Given the description of an element on the screen output the (x, y) to click on. 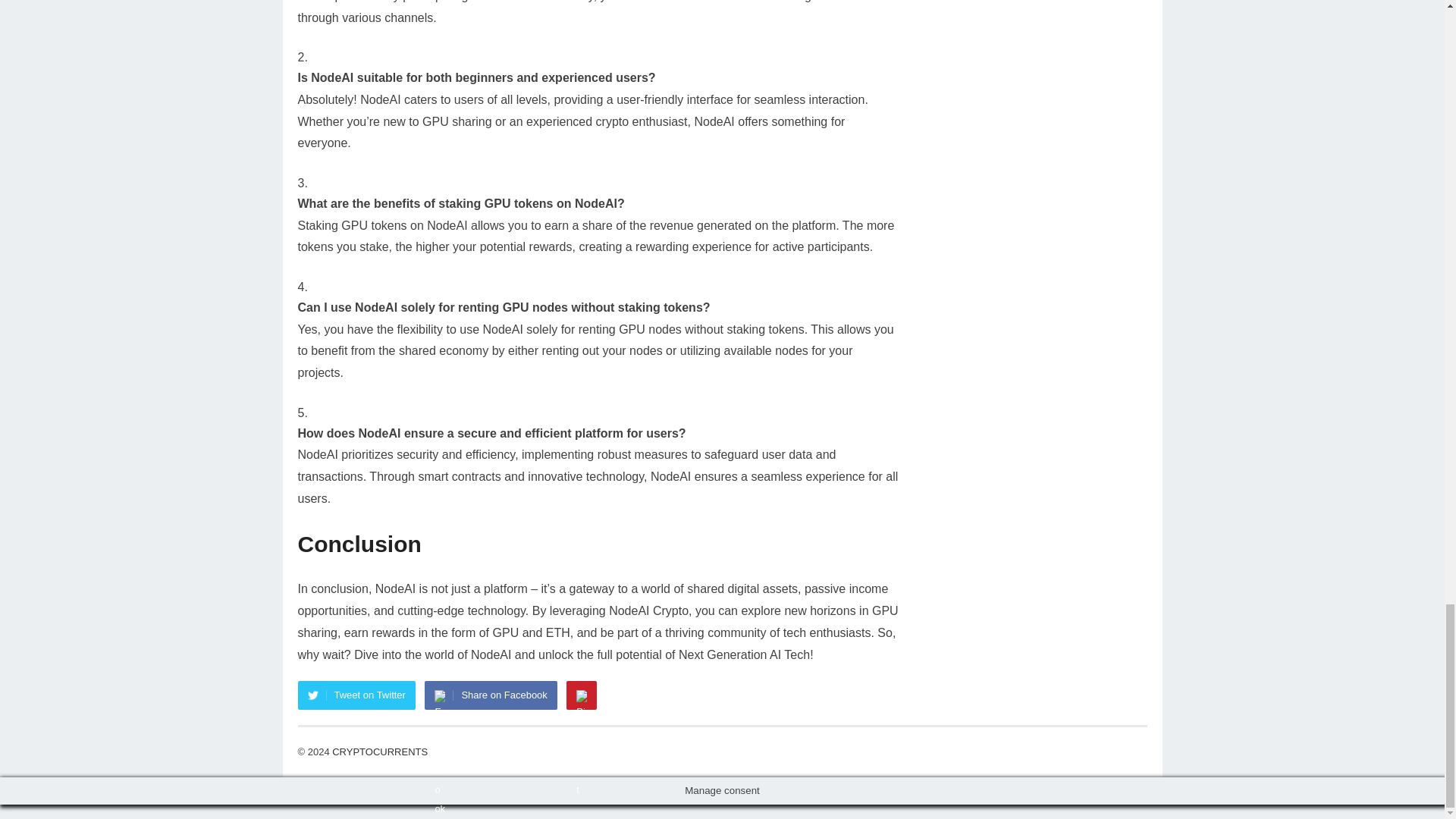
Share on Facebook (490, 695)
Tweet on Twitter (355, 695)
Pinterest (581, 695)
